Given the description of an element on the screen output the (x, y) to click on. 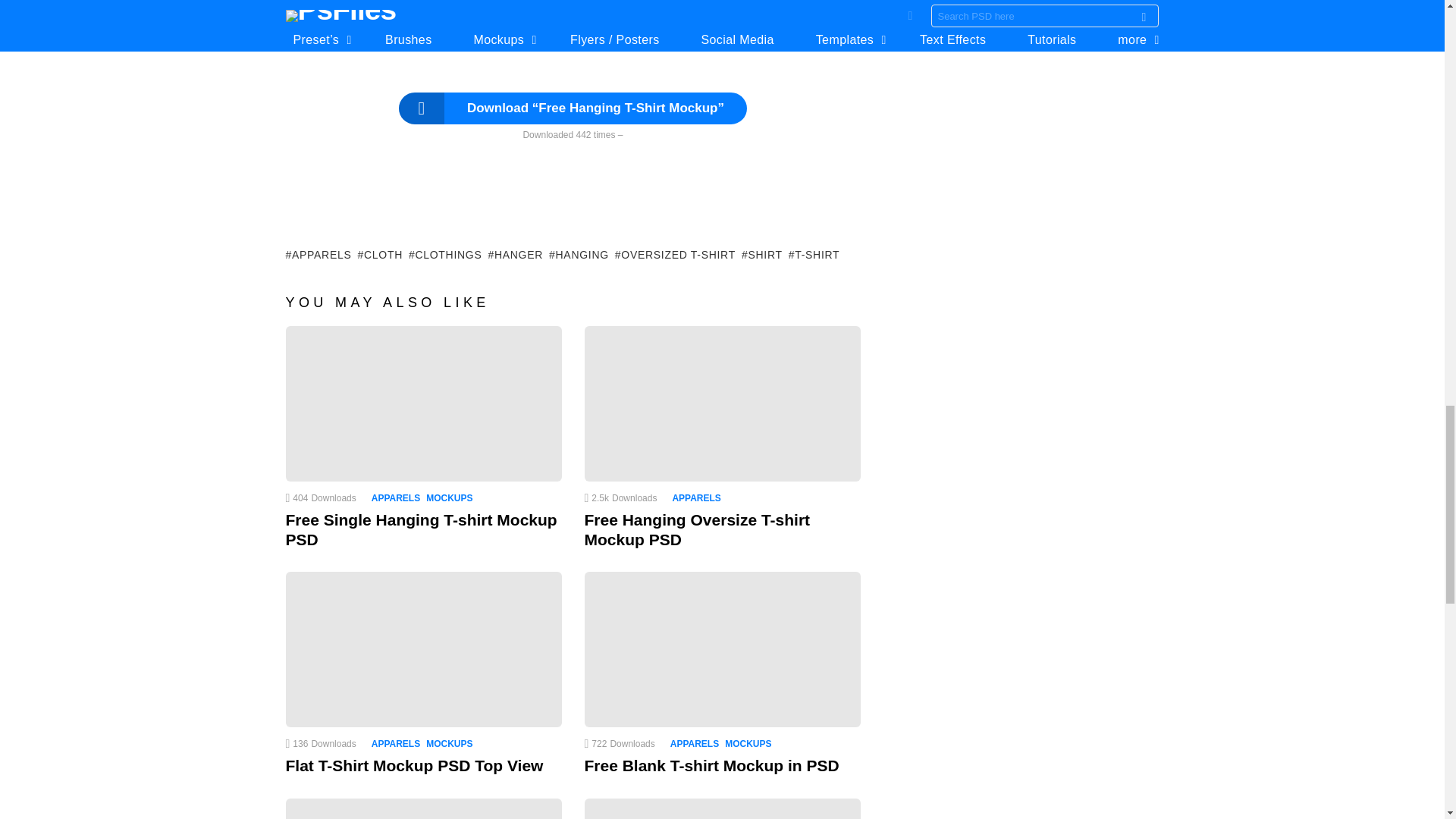
Free Single Hanging T-shirt Mockup PSD (422, 403)
Free Blank T-shirt Mockup in PSD (721, 649)
Free Hanging Oversize T-shirt Mockup PSD (721, 403)
Flat T-Shirt Mockup PSD Top View (422, 649)
Free Realistic Wrinkle T-Shirt Mockup PSD Template (422, 808)
